Given the description of an element on the screen output the (x, y) to click on. 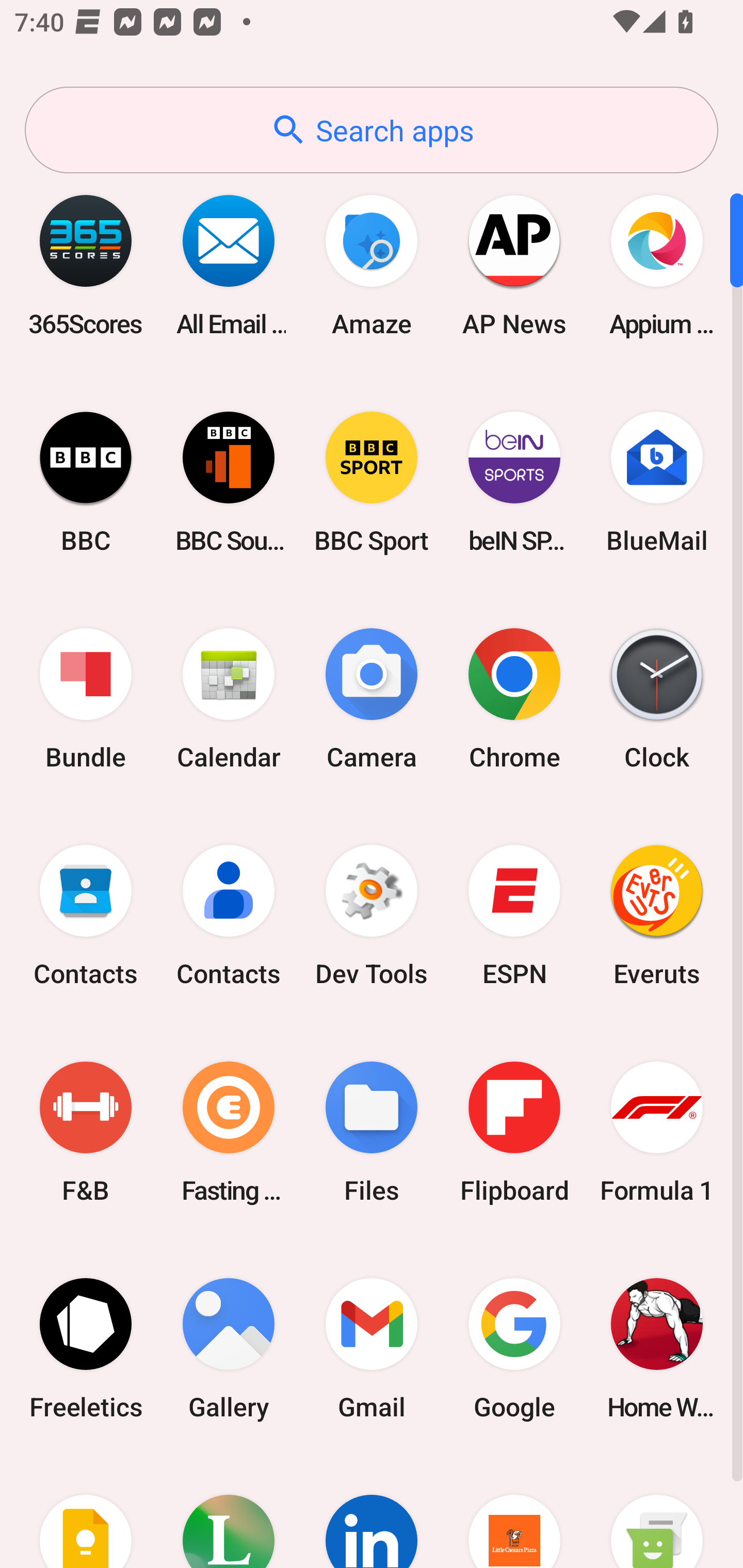
  Search apps (371, 130)
365Scores (85, 264)
All Email Connect (228, 264)
Amaze (371, 264)
AP News (514, 264)
Appium Settings (656, 264)
BBC (85, 482)
BBC Sounds (228, 482)
BBC Sport (371, 482)
beIN SPORTS (514, 482)
BlueMail (656, 482)
Bundle (85, 699)
Calendar (228, 699)
Camera (371, 699)
Chrome (514, 699)
Clock (656, 699)
Contacts (85, 915)
Contacts (228, 915)
Dev Tools (371, 915)
ESPN (514, 915)
Everuts (656, 915)
F&B (85, 1131)
Fasting Coach (228, 1131)
Files (371, 1131)
Flipboard (514, 1131)
Formula 1 (656, 1131)
Freeletics (85, 1348)
Gallery (228, 1348)
Gmail (371, 1348)
Google (514, 1348)
Home Workout (656, 1348)
